Given the description of an element on the screen output the (x, y) to click on. 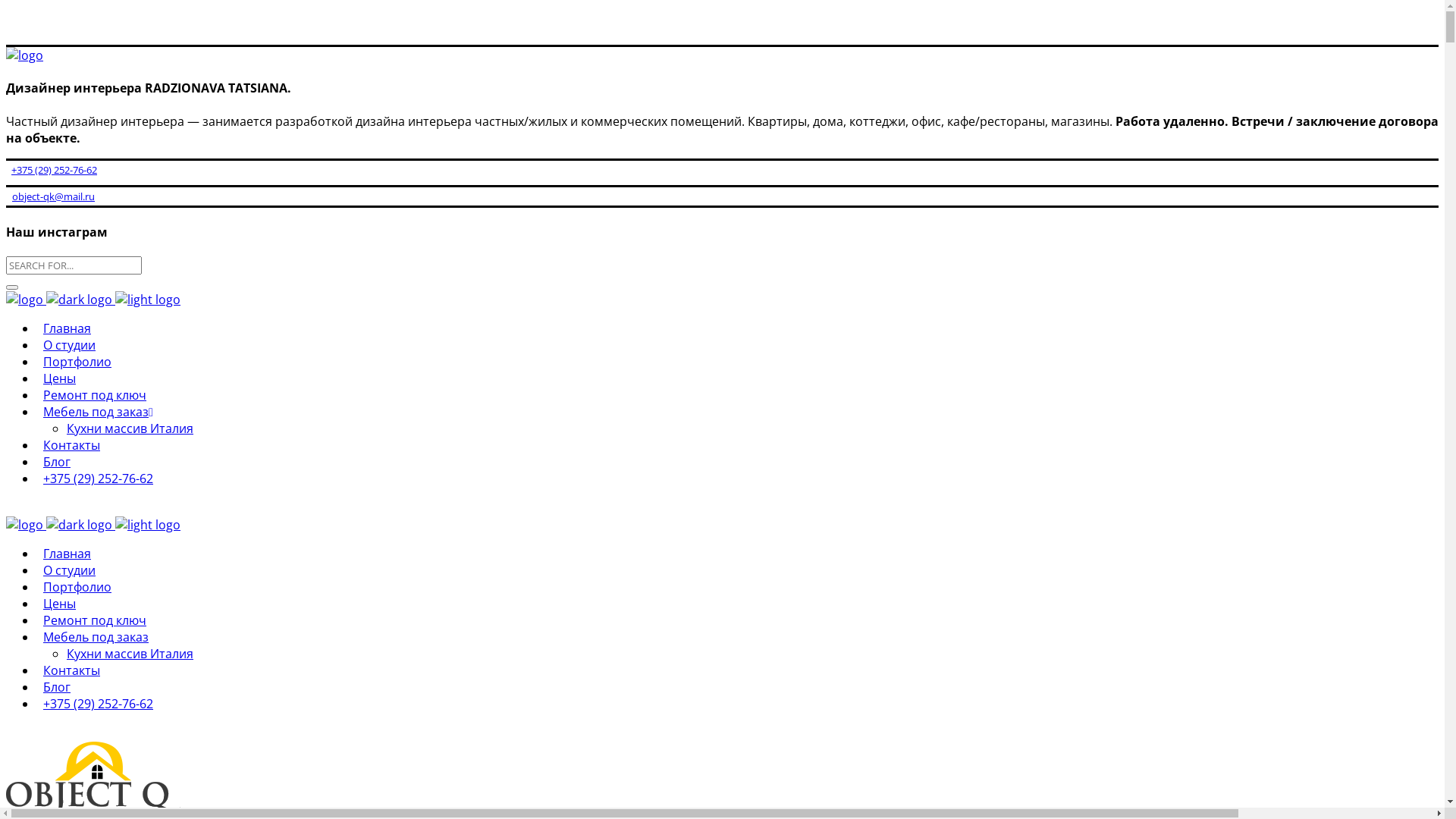
+375 (29) 252-76-62 Element type: text (98, 703)
+375 (29) 252-76-62 Element type: text (98, 478)
+375 (29) 252-76-62 Element type: text (51, 168)
object-qk@mail.ru Element type: text (50, 195)
